Given the description of an element on the screen output the (x, y) to click on. 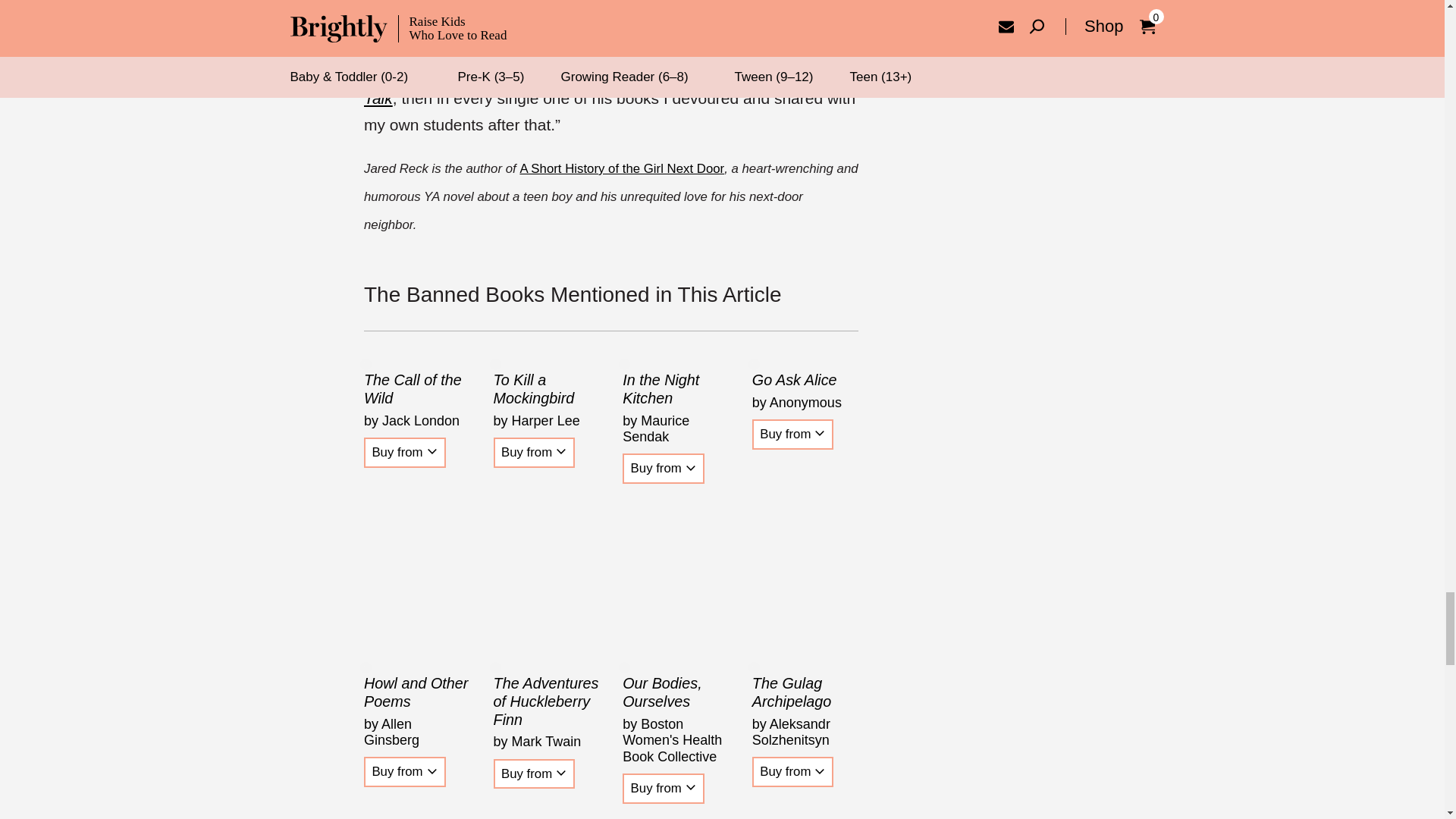
uniE601 (561, 451)
uniE601 (819, 771)
uniE601 (819, 432)
uniE601 (432, 771)
uniE601 (561, 772)
uniE601 (432, 451)
uniE601 (690, 787)
uniE601 (690, 468)
